Given the description of an element on the screen output the (x, y) to click on. 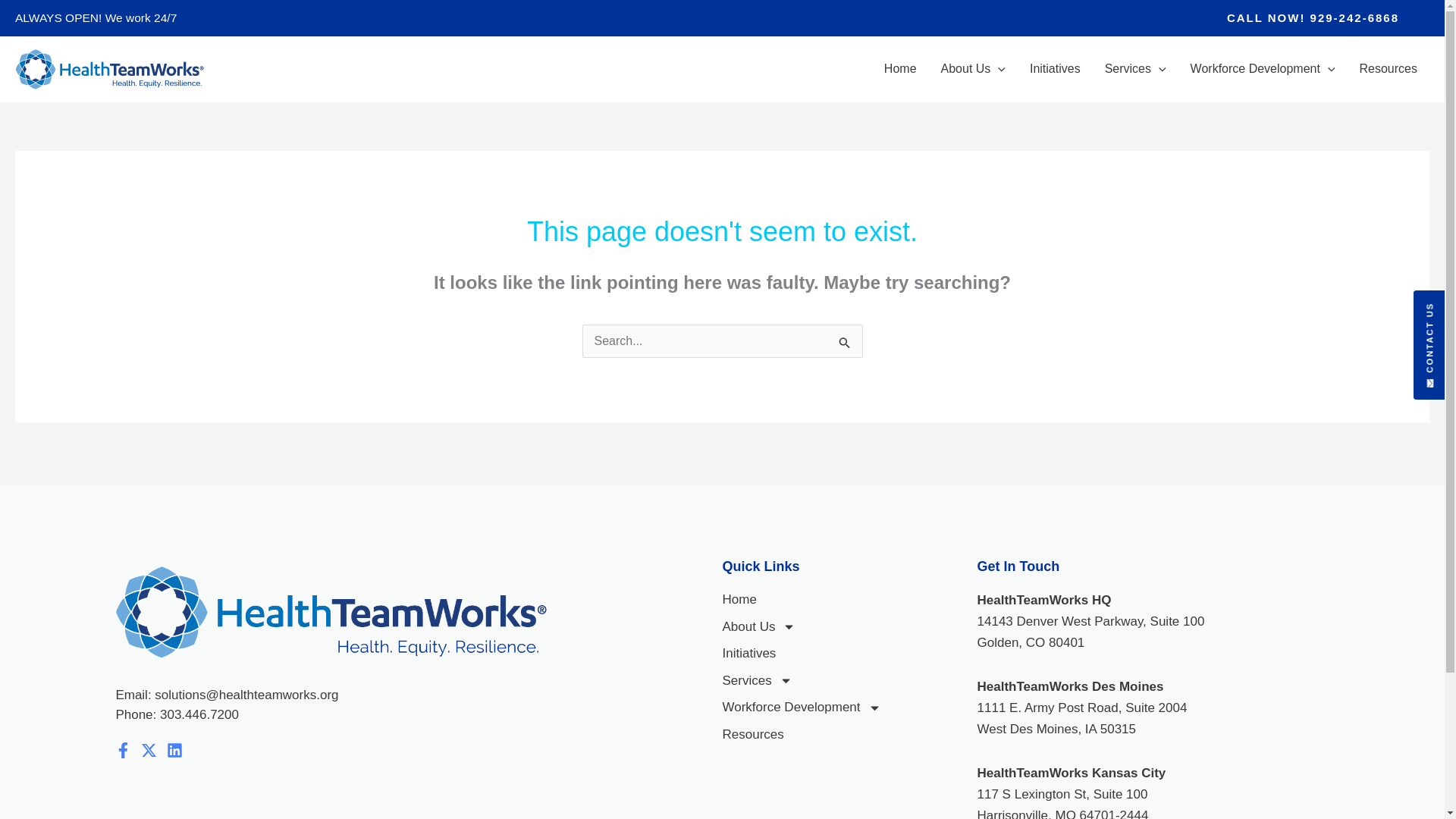
Home (900, 68)
Search (844, 342)
Search (844, 342)
CALL NOW! 929-242-6868 (1312, 18)
Services (1135, 68)
Workforce Development (1262, 68)
About Us (972, 68)
Initiatives (1055, 68)
